Given the description of an element on the screen output the (x, y) to click on. 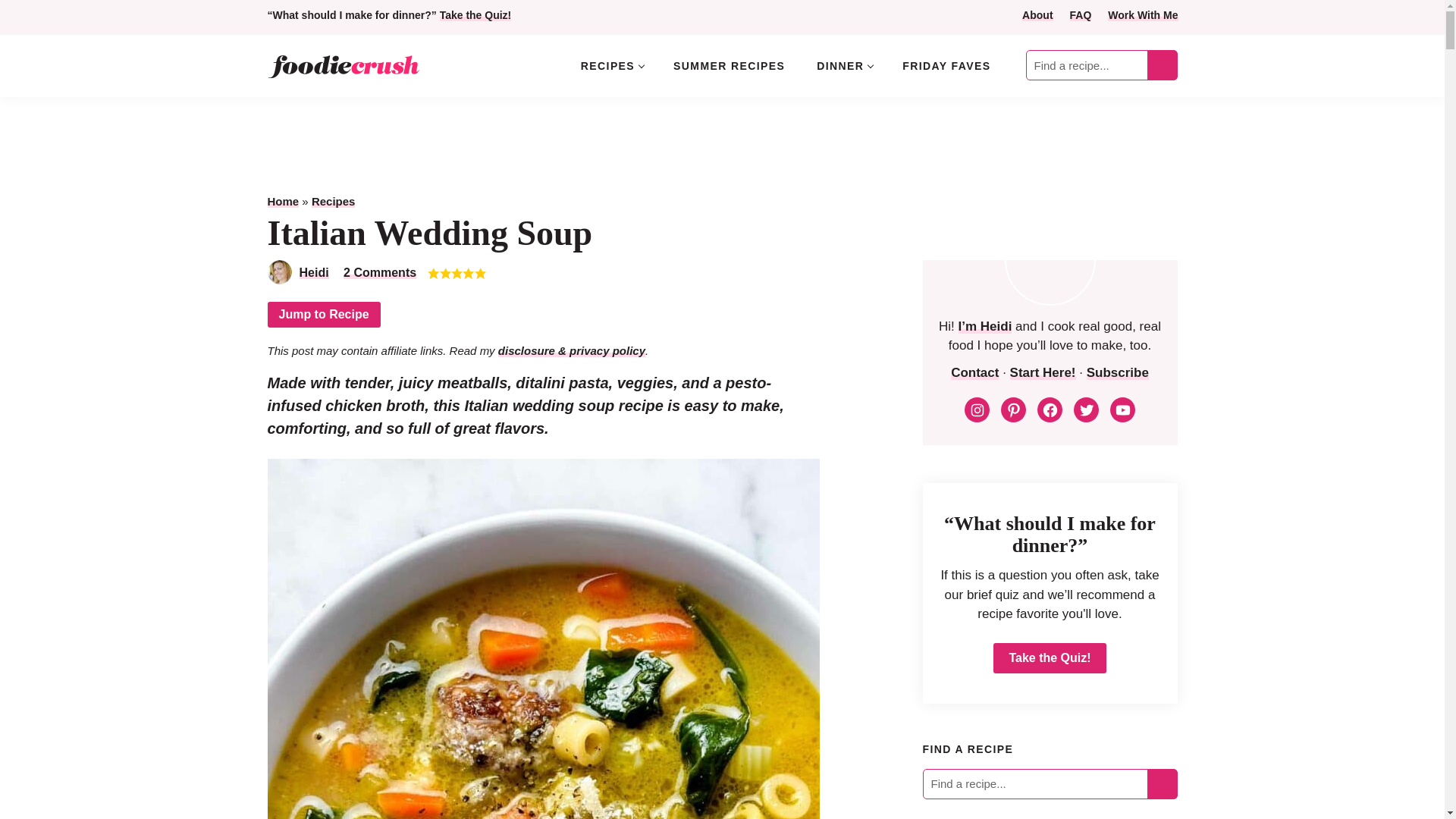
Submit search (1162, 783)
Recipes (333, 201)
Submit search (1162, 65)
RECIPES (611, 65)
Take the Quiz! (475, 15)
DINNER (843, 65)
Submit search (1162, 783)
Heidi (313, 272)
SUMMER RECIPES (728, 65)
Home (282, 201)
Submit search (1162, 65)
Submit search (1162, 65)
FAQ (1081, 15)
FRIDAY FAVES (946, 65)
